Given the description of an element on the screen output the (x, y) to click on. 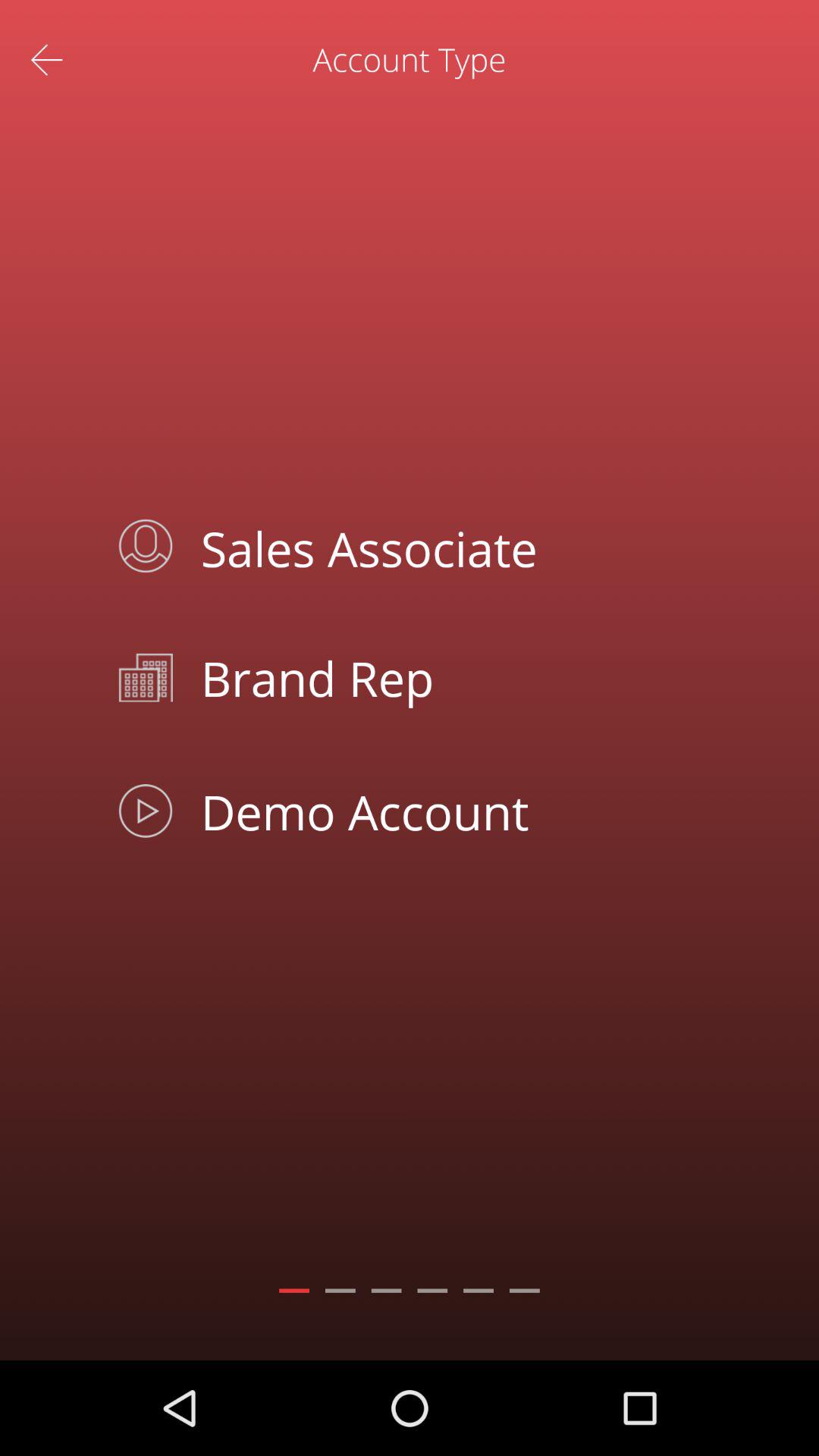
turn off the item below the brand rep item (444, 811)
